Given the description of an element on the screen output the (x, y) to click on. 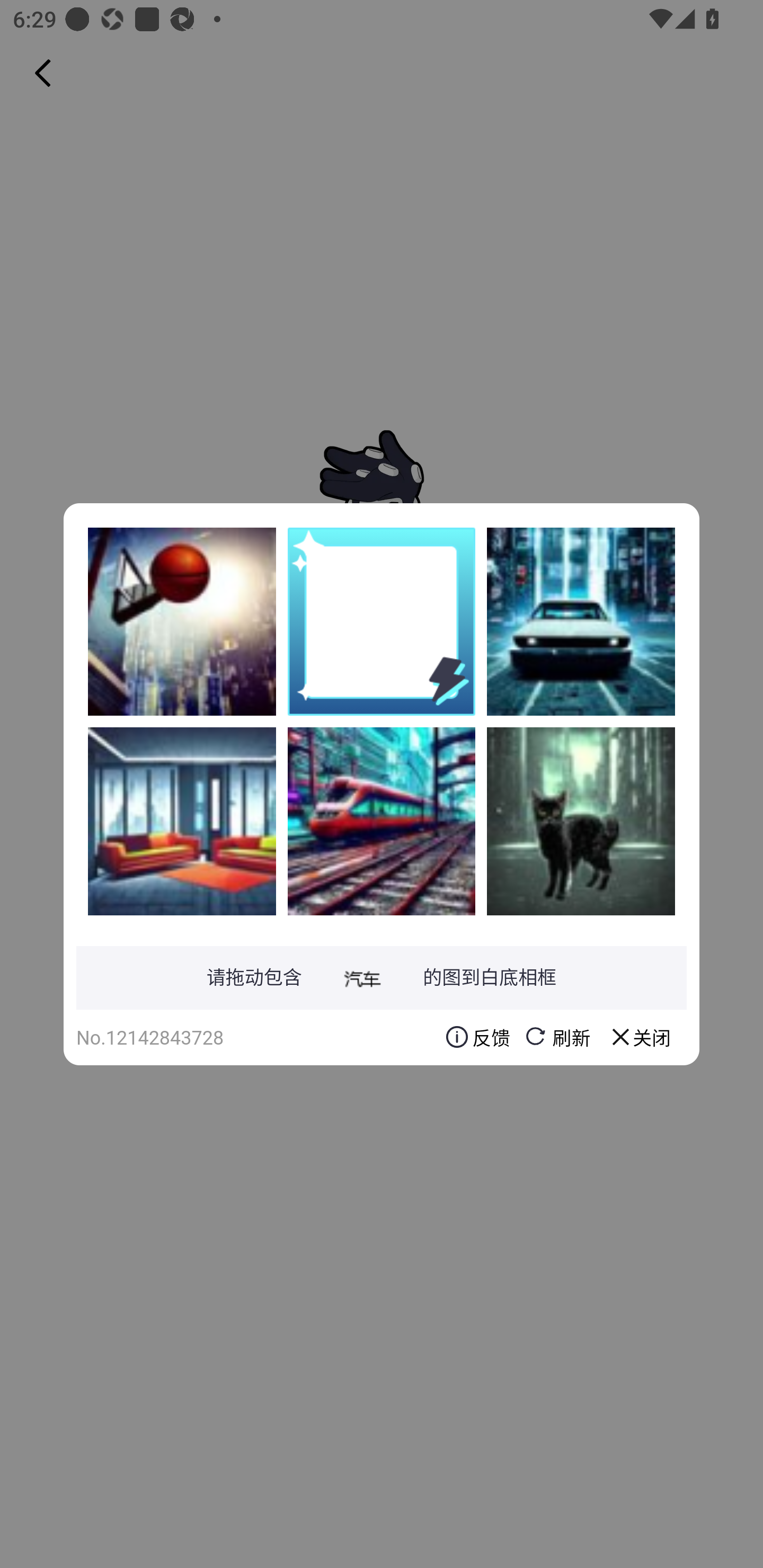
kwjGivDGyEv4p7bt+6gxxx1siJIksn2S7+PH1P+37XR (181, 621)
+T594 (580, 621)
